Given the description of an element on the screen output the (x, y) to click on. 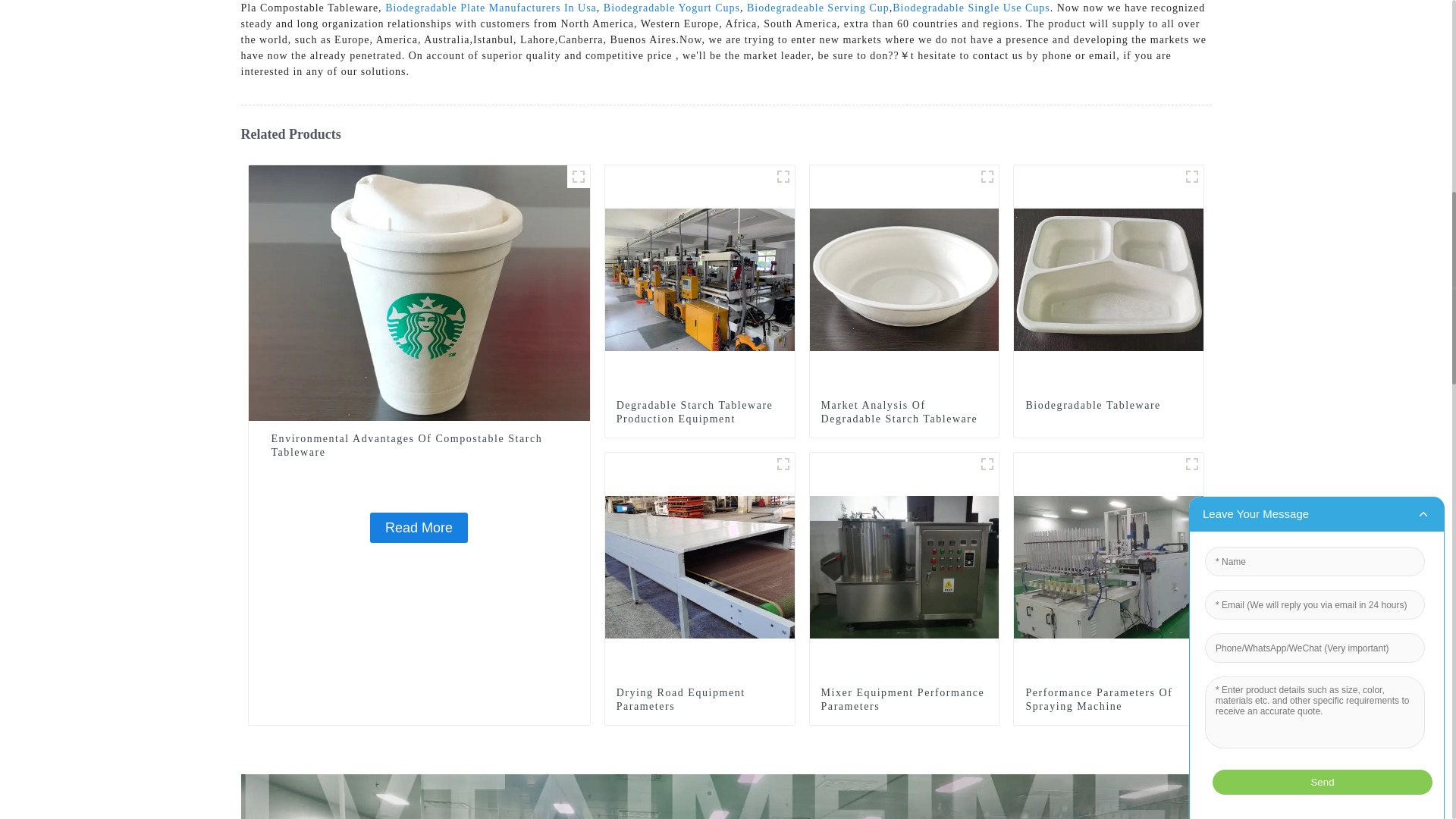
Read More (418, 527)
Market Analysis Of Degradable Starch Tableware (904, 411)
main (782, 176)
Environmental Advantages Of Compostable Starch Tableware (418, 527)
pdd (578, 176)
Biodegradable Single Use Cups (970, 7)
Environmental Advantages Of Compostable Starch Tableware (418, 291)
p-d-11 (986, 176)
Biodegradable Plate Manufacturers In Usa (490, 7)
Performance Parameters Of Spraying Machine (1108, 699)
Environmental Advantages Of Compostable Starch Tableware (418, 445)
Biodegradeable Serving Cup (817, 7)
Biodegradeable Serving Cup (817, 7)
pd8 (782, 463)
Biodegradable Plate Manufacturers In Usa (490, 7)
